Given the description of an element on the screen output the (x, y) to click on. 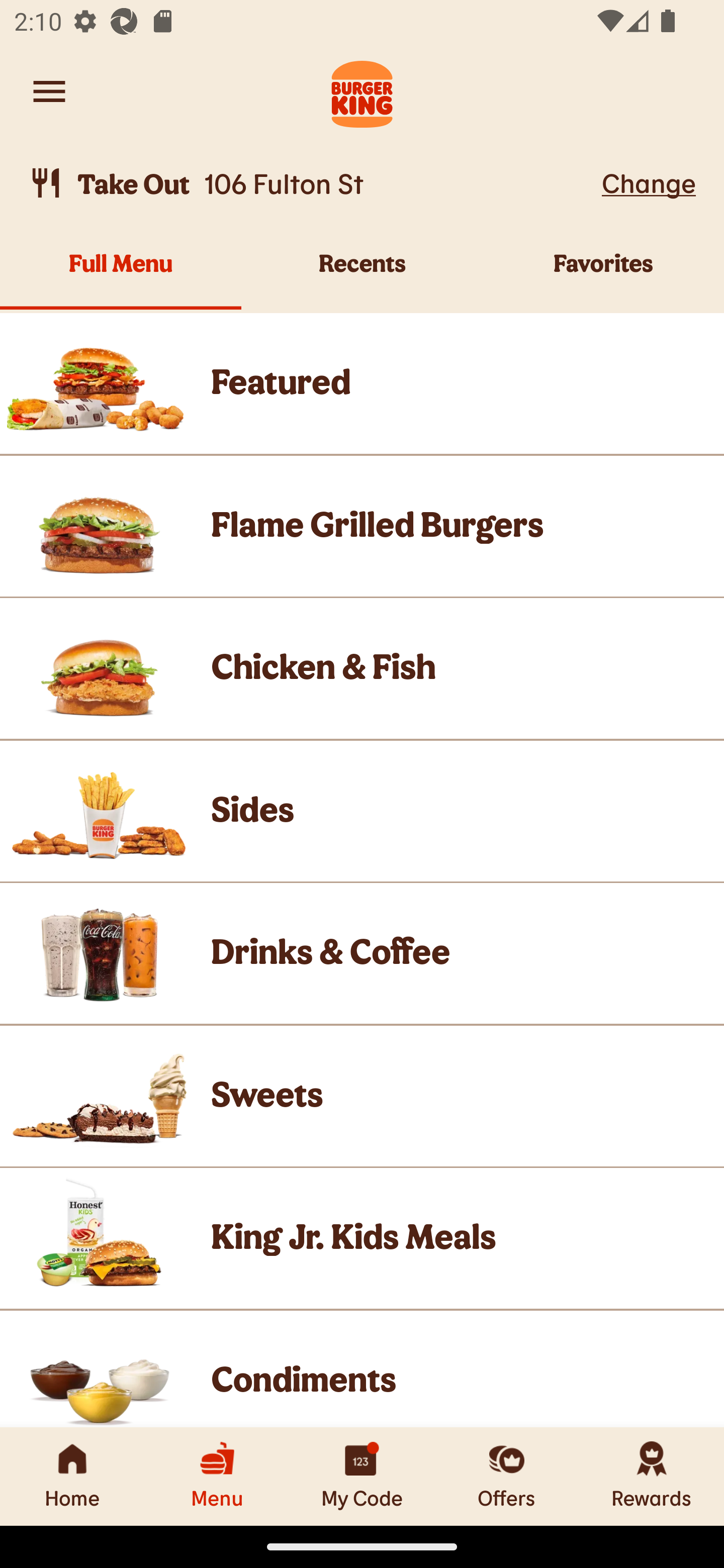
Burger King Logo. Navigate to Home (362, 91)
Navigate to account menu  (49, 91)
Take Out, 106 Fulton St  Take Out 106 Fulton St (311, 183)
Change (648, 182)
Full Menu (120, 273)
Recents (361, 273)
Favorites (603, 273)
Product Image, Featured Product Image Featured (362, 383)
Product Image, Sides Product Image Sides (362, 810)
Product Image, Sweets Product Image Sweets (362, 1095)
Product Image, Condiments Product Image Condiments (362, 1368)
Home (72, 1475)
Menu (216, 1475)
My Code (361, 1475)
Offers (506, 1475)
Rewards (651, 1475)
